Given the description of an element on the screen output the (x, y) to click on. 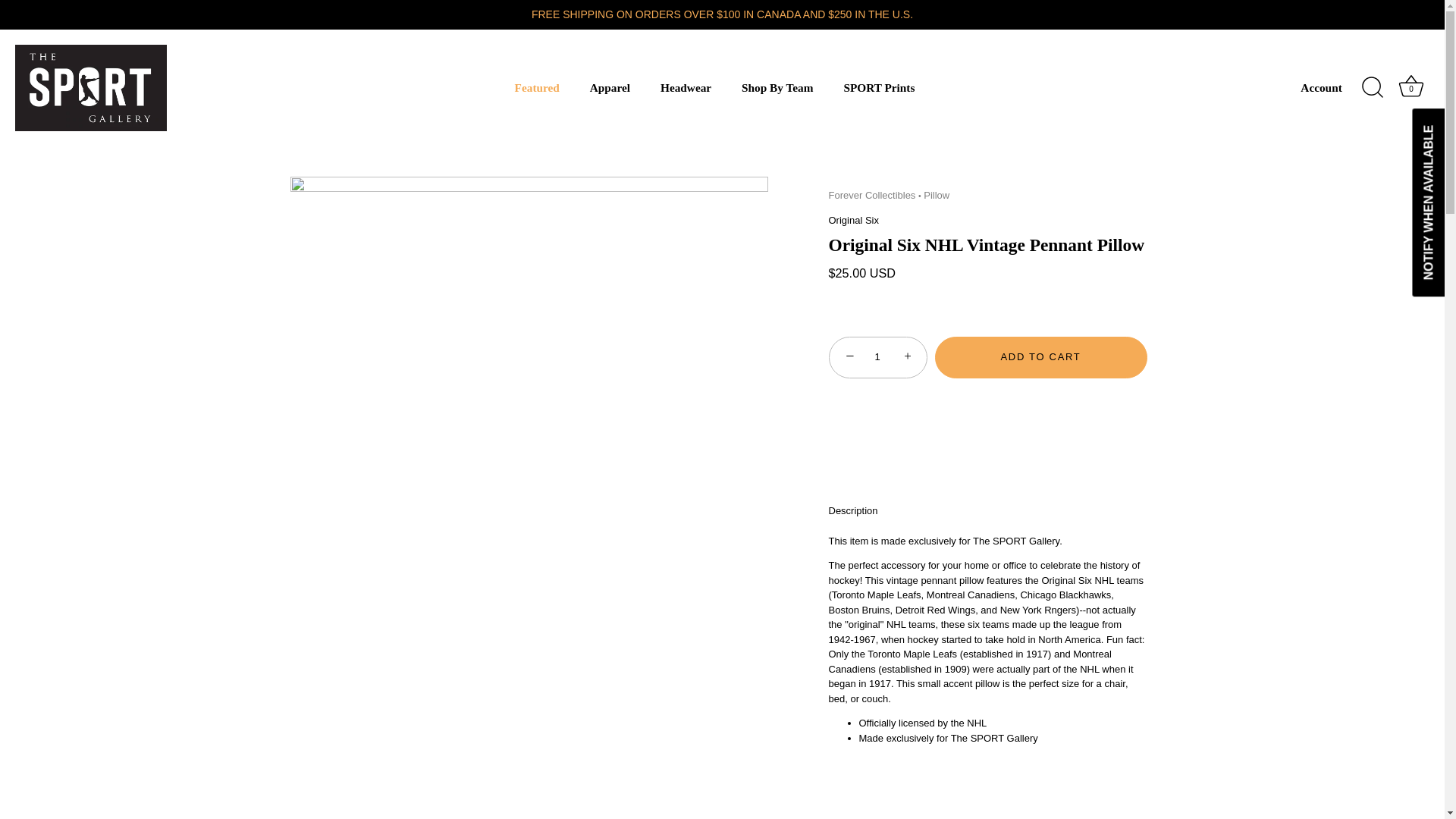
Basket (1410, 86)
Apparel (609, 88)
Featured (536, 88)
Headwear (685, 88)
